Given the description of an element on the screen output the (x, y) to click on. 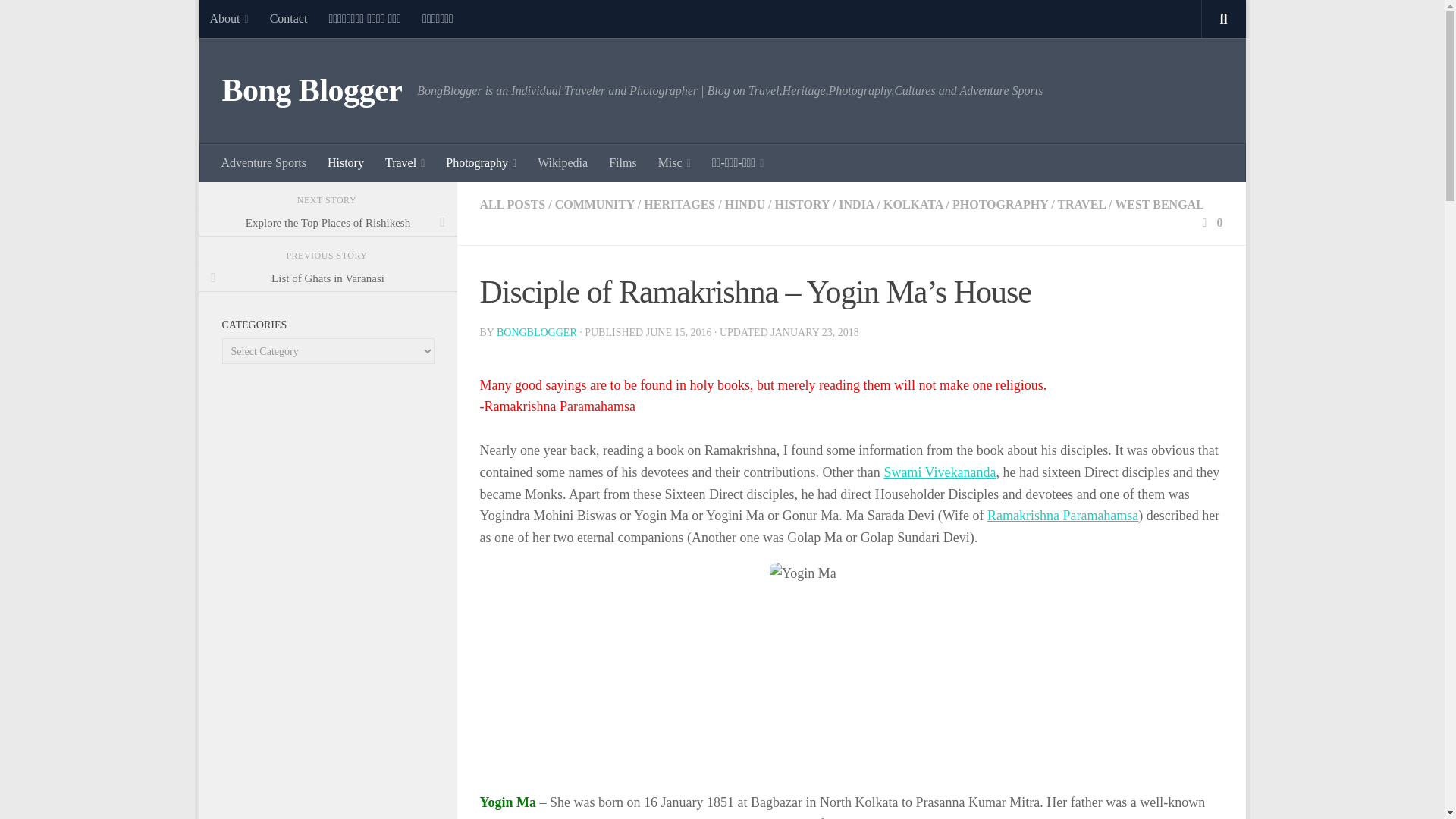
Posts by BongBlogger (536, 332)
Skip to content (258, 20)
About (228, 18)
